Given the description of an element on the screen output the (x, y) to click on. 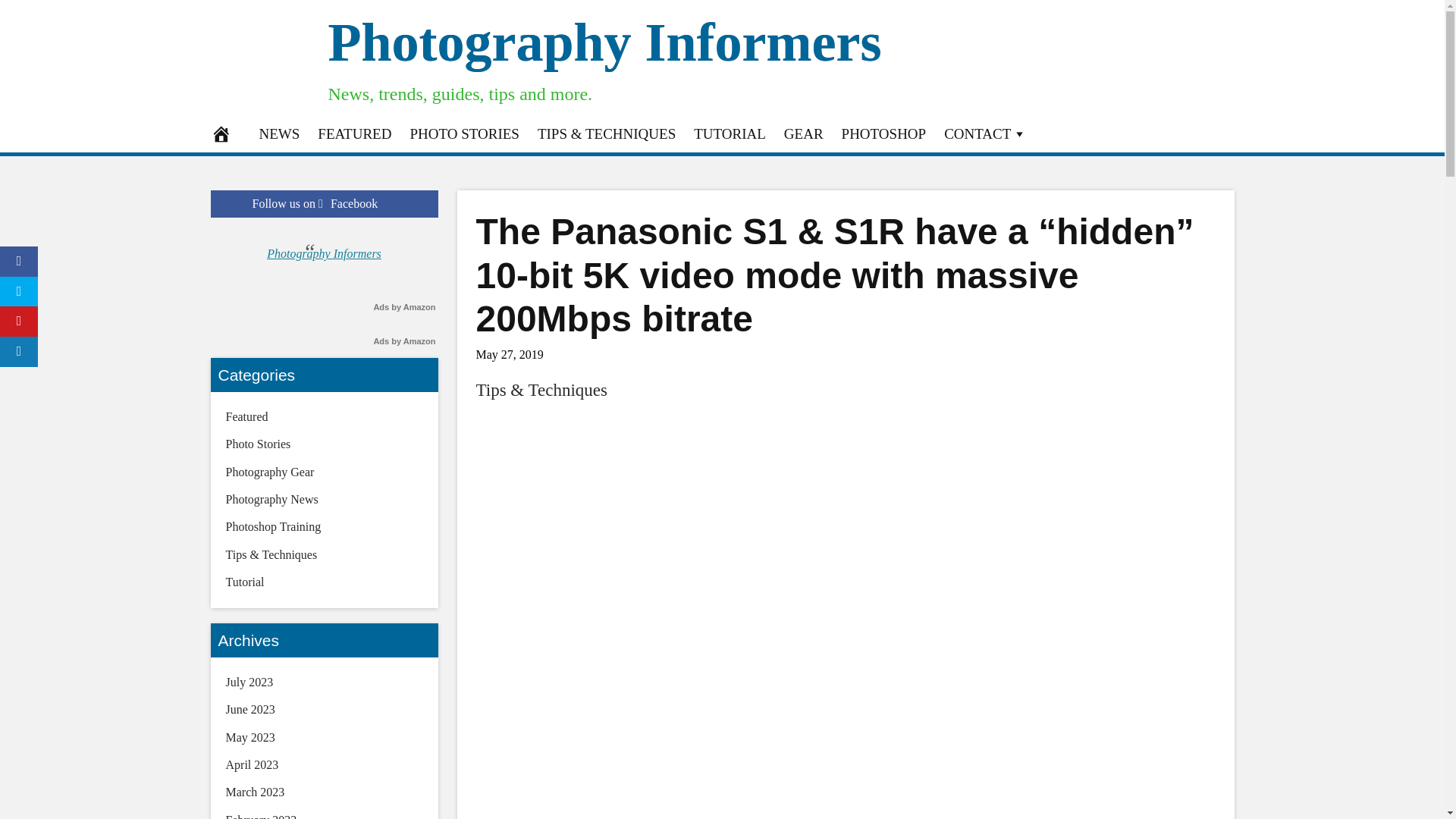
Photography Informers (603, 42)
CONTACT (984, 133)
TUTORIAL (729, 133)
GEAR (803, 133)
PHOTO STORIES (463, 133)
FEATURED (354, 133)
PHOTOSHOP (884, 133)
NEWS (279, 133)
